Given the description of an element on the screen output the (x, y) to click on. 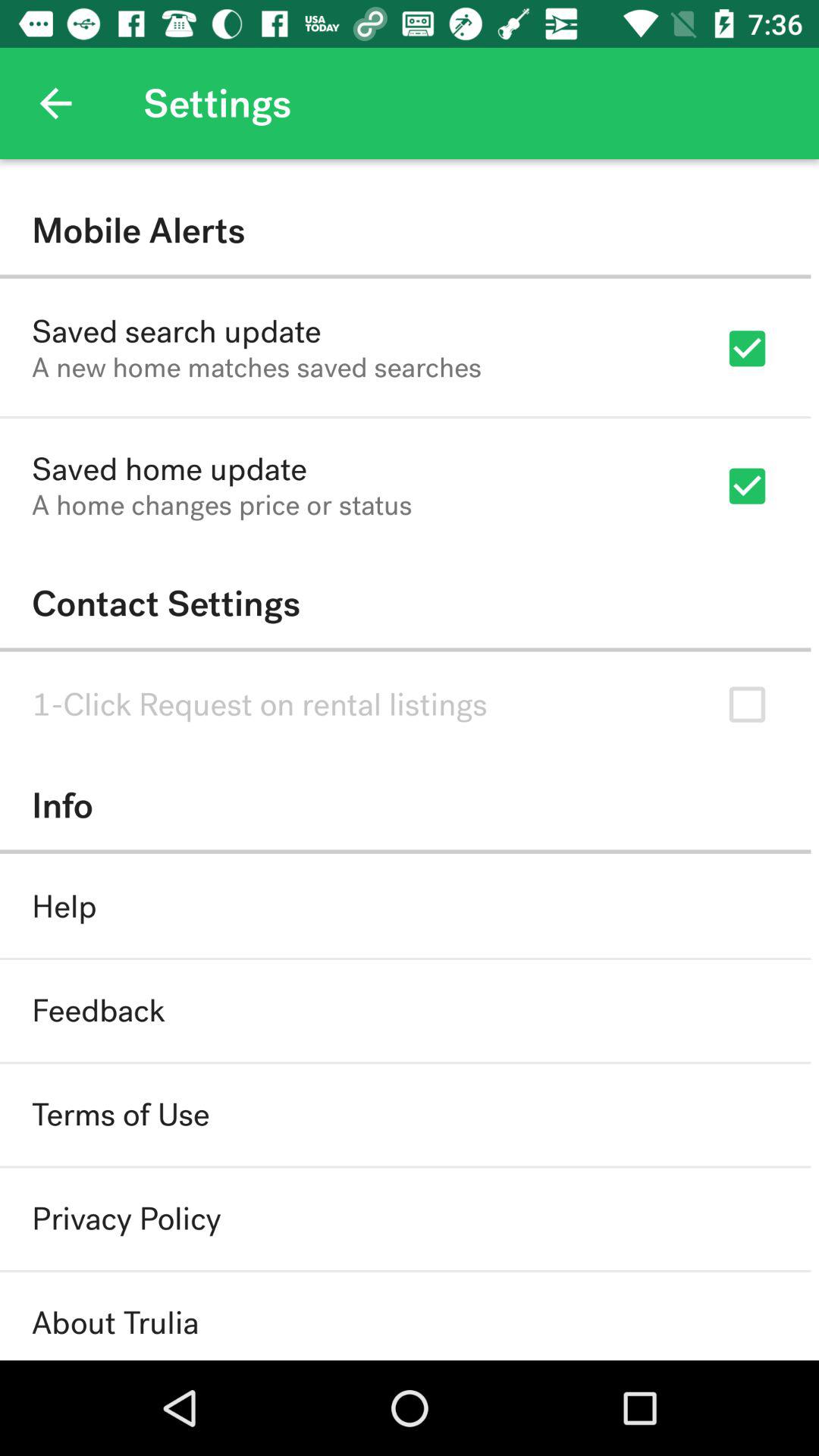
turn on the item above the mobile alerts icon (55, 103)
